Given the description of an element on the screen output the (x, y) to click on. 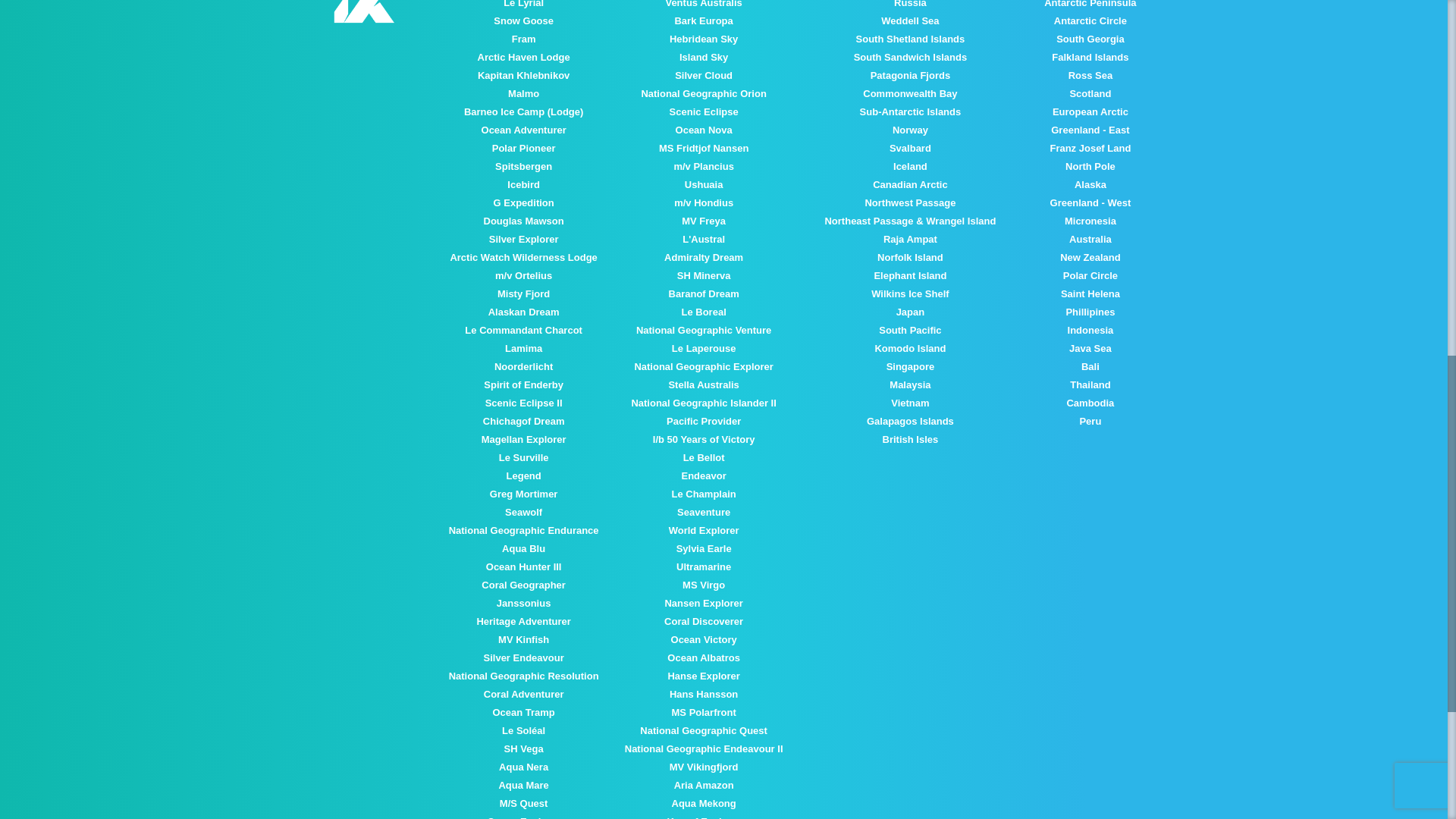
Le Lyrial (523, 4)
